Given the description of an element on the screen output the (x, y) to click on. 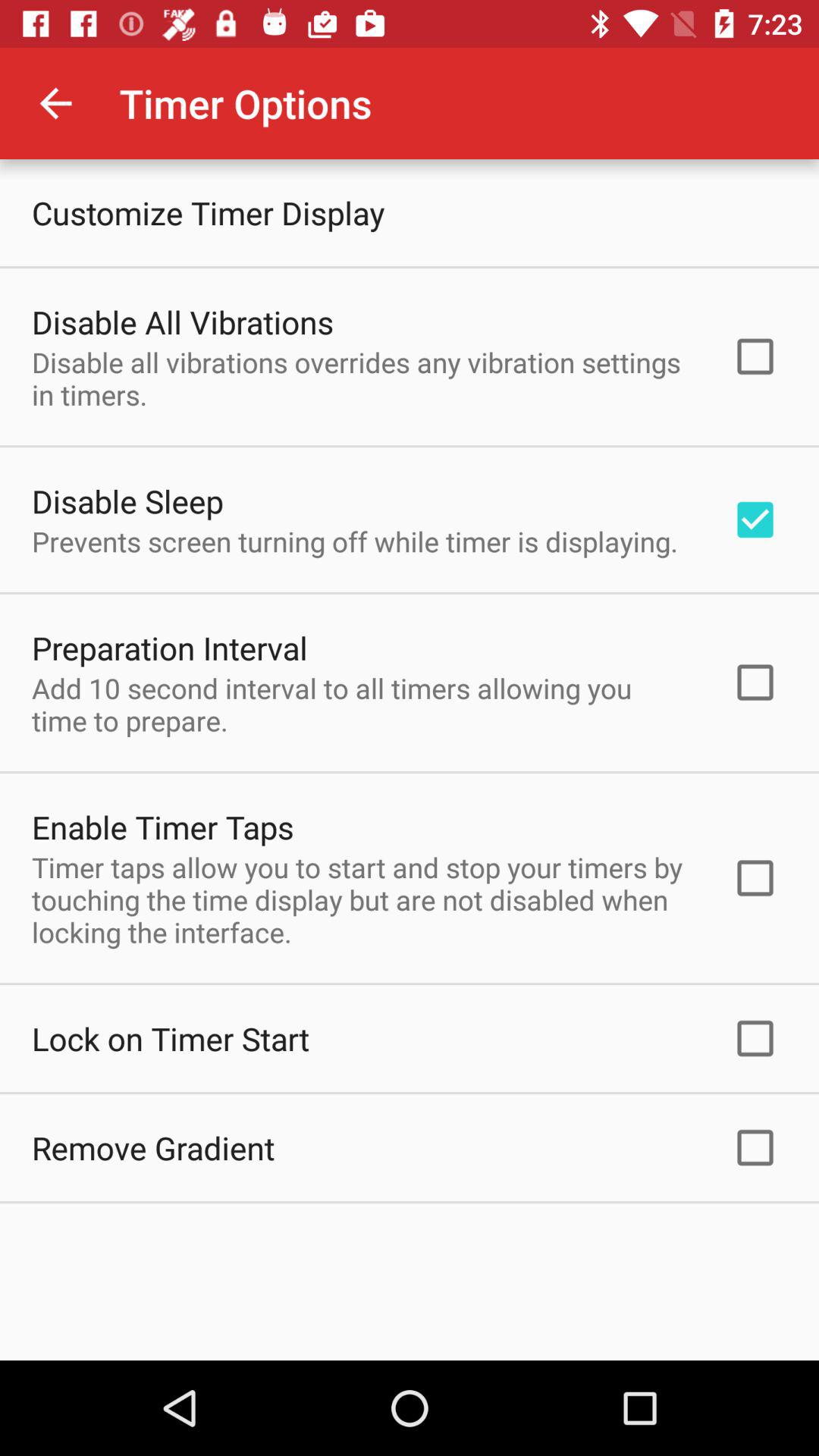
flip until lock on timer (170, 1038)
